Given the description of an element on the screen output the (x, y) to click on. 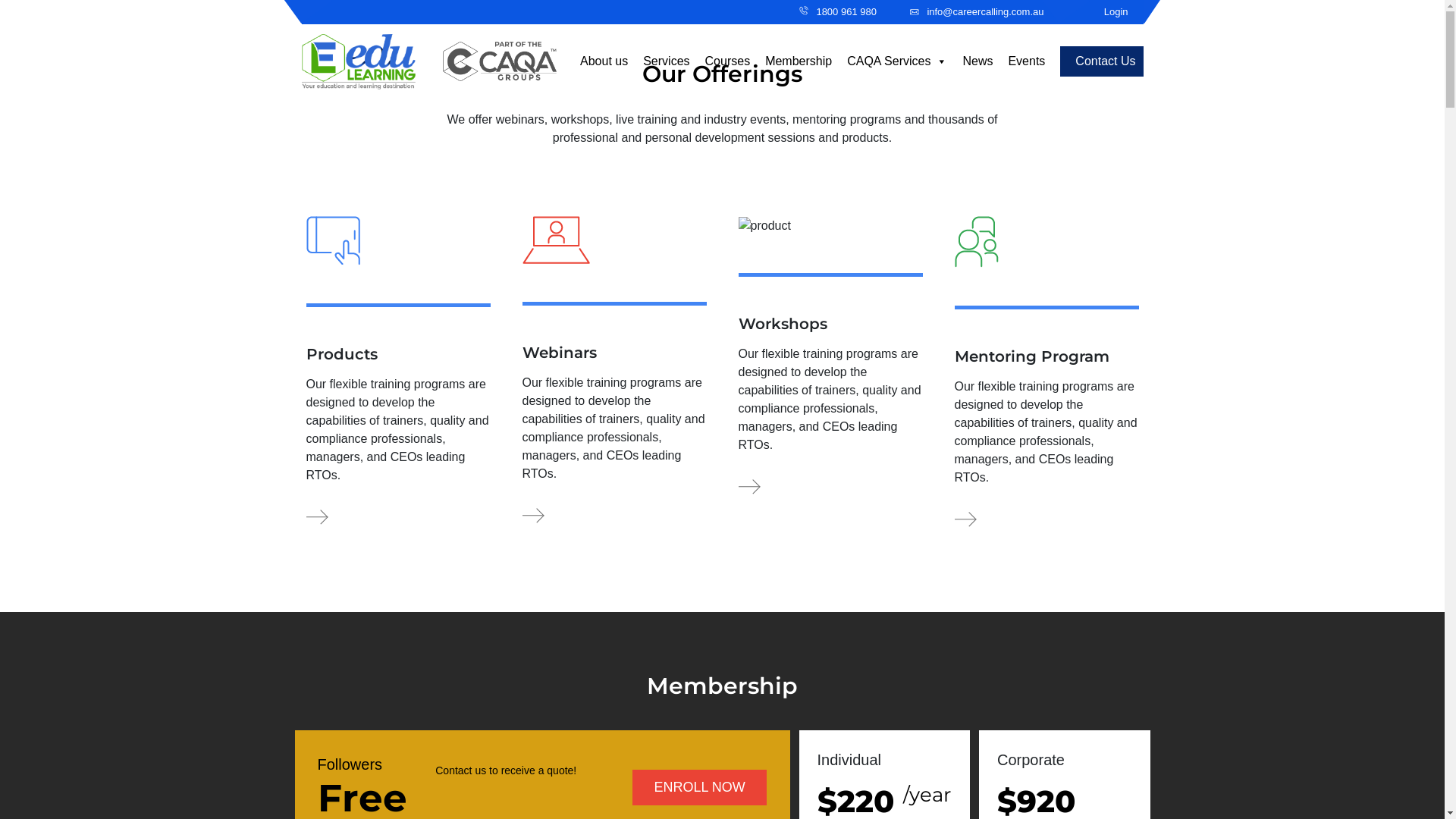
Events Element type: text (1026, 61)
Membership Element type: text (798, 61)
CAQA Services Element type: text (896, 61)
Services Element type: text (665, 61)
News Element type: text (977, 61)
About us Element type: text (603, 61)
info@careercalling.com.au Element type: text (976, 12)
ENROLL NOW Element type: text (699, 787)
1800 961 980 Element type: text (837, 12)
Login Element type: text (1115, 12)
Contact Us Element type: text (1101, 61)
Courses Element type: text (727, 61)
